Given the description of an element on the screen output the (x, y) to click on. 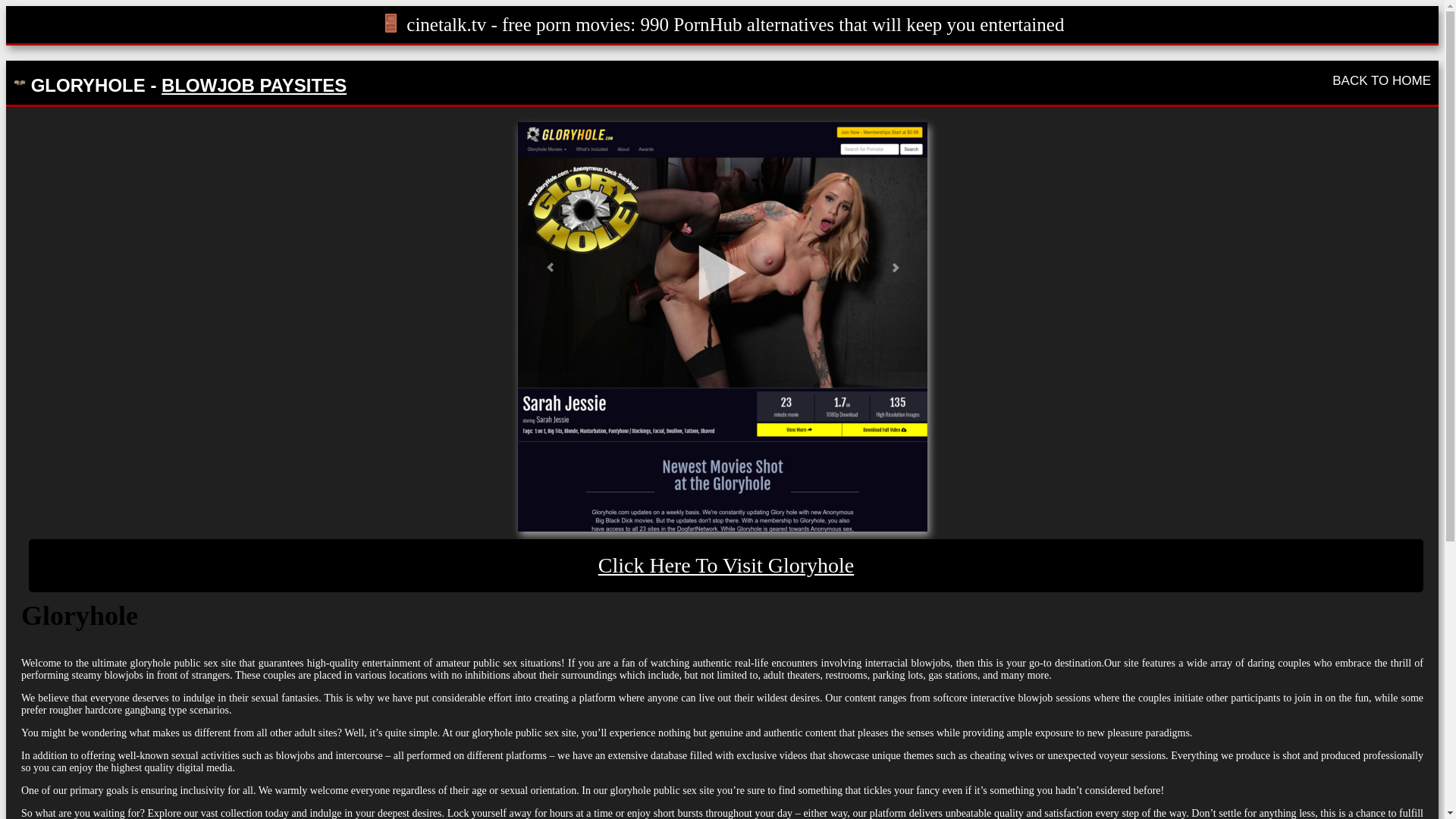
Gloryhole (726, 564)
Click Here To Visit Gloryhole (726, 564)
BLOWJOB PAYSITES (253, 84)
BACK TO HOME (1381, 79)
